Given the description of an element on the screen output the (x, y) to click on. 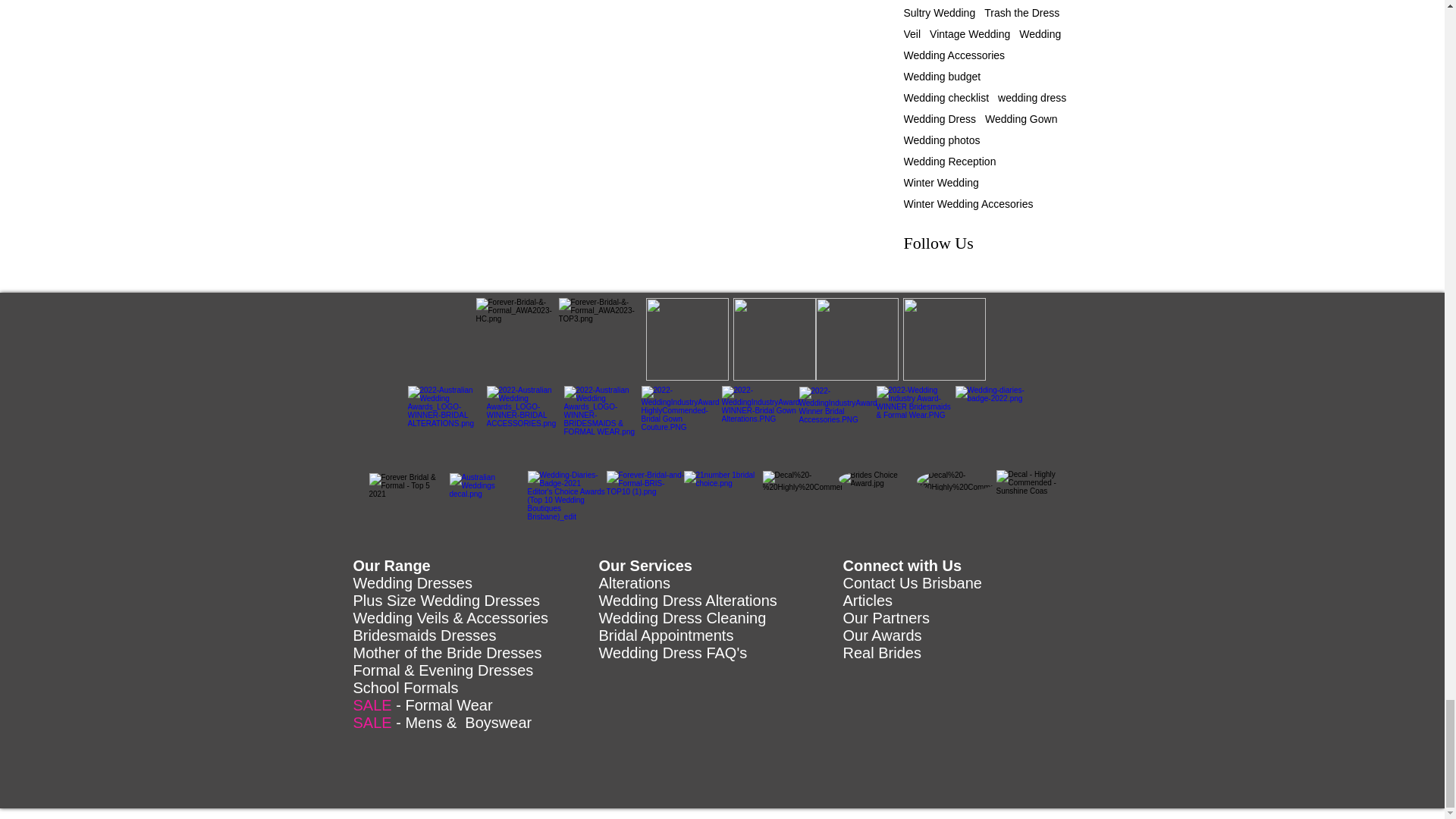
2023-WIA-BRISBANE-Forever-Bridal-and-For (943, 339)
2023-WIA-BRISBANE-Forever-Bridal-and-For (687, 339)
2023-WIA-BRISBANE-Forever-Bridal-and-For (773, 339)
2023-WIA-BRISBANE-Forever-Bridal-and-For (856, 339)
